Given the description of an element on the screen output the (x, y) to click on. 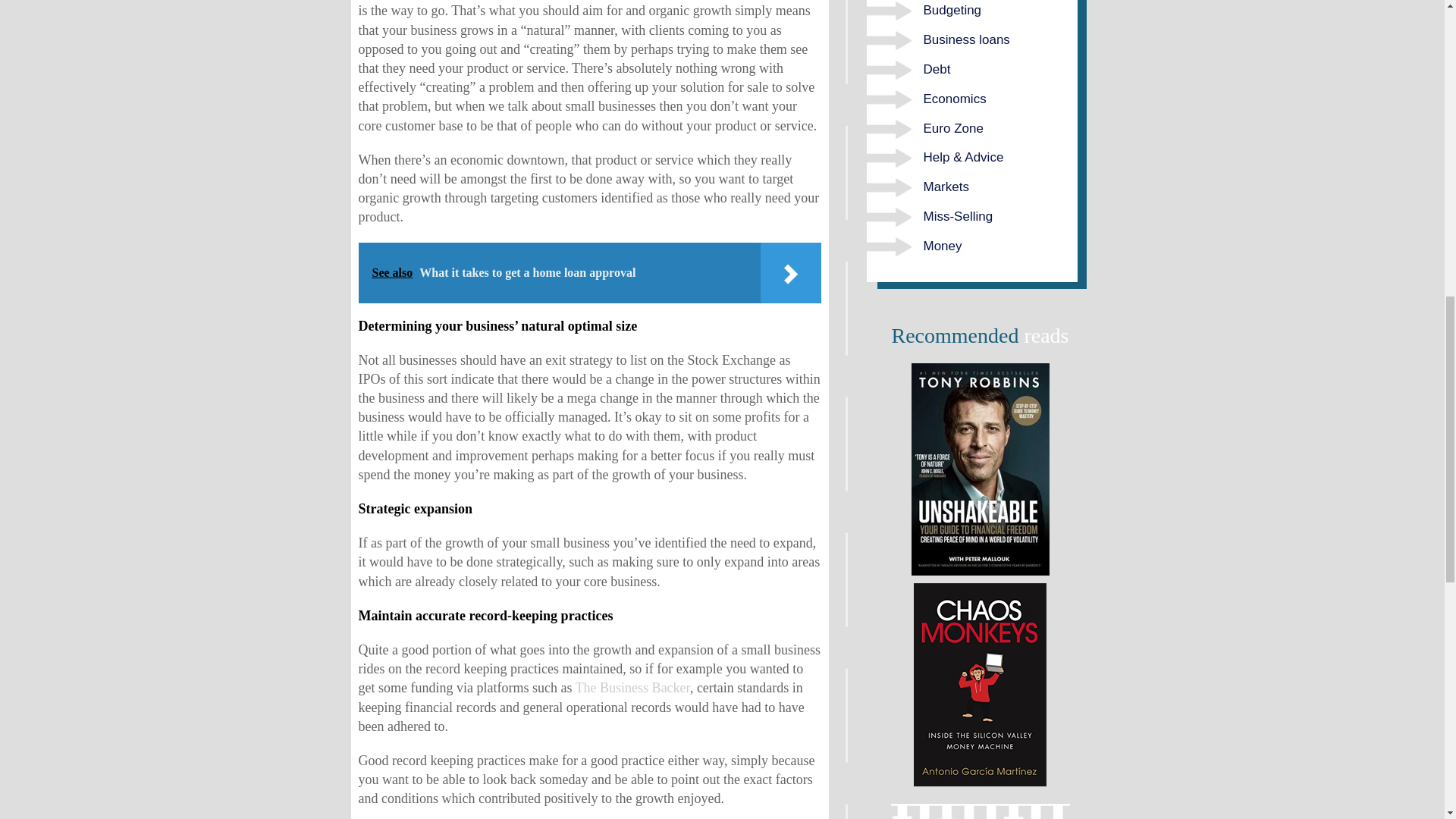
Markets (946, 186)
Business loans (966, 39)
The Business Backer (632, 687)
Economics (955, 98)
Money (942, 246)
See also  What it takes to get a home loan approval (589, 272)
Recommended reads (979, 469)
Euro Zone (953, 128)
Budgeting (952, 10)
Debt (936, 69)
